Given the description of an element on the screen output the (x, y) to click on. 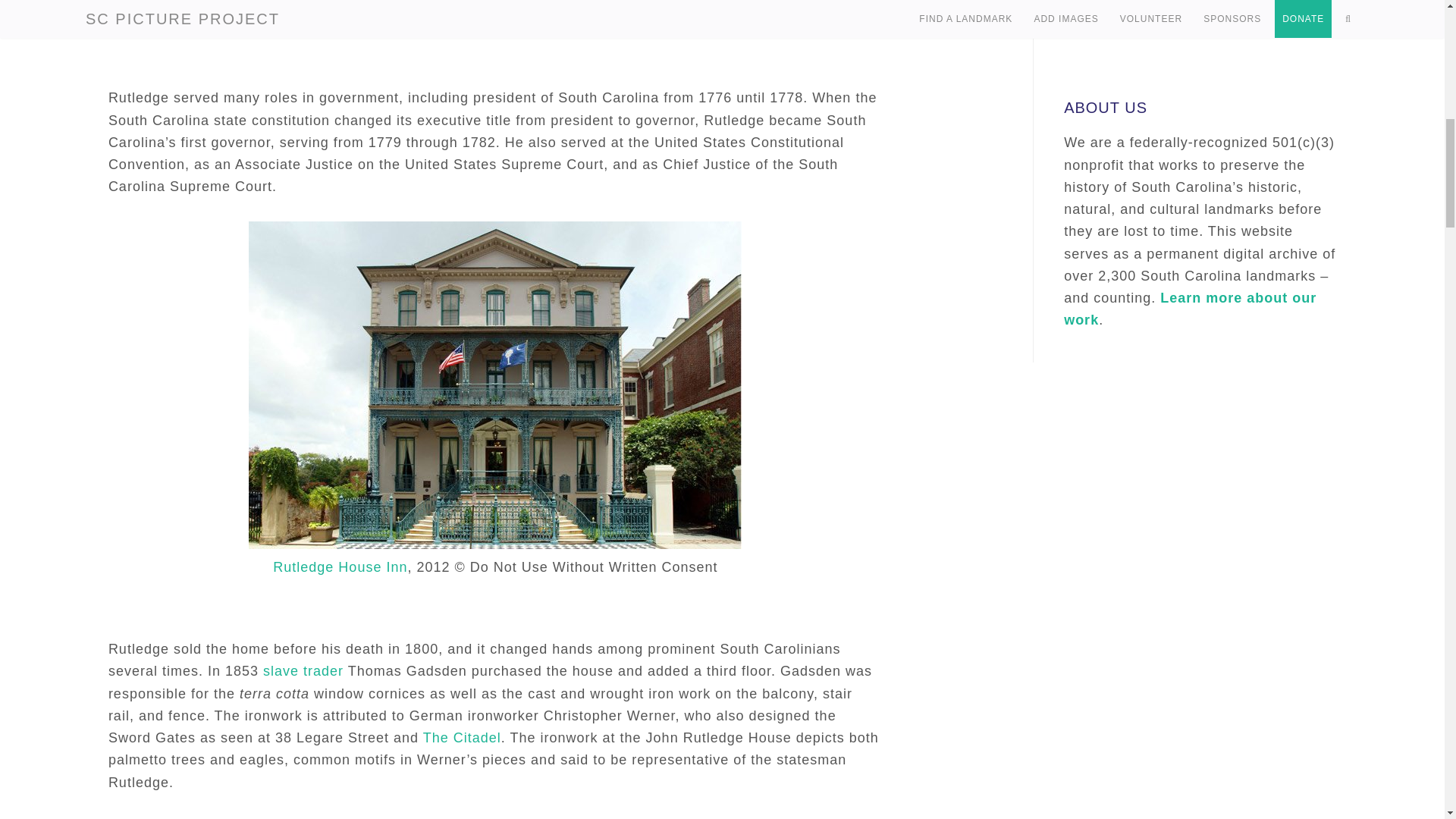
Rutledge House Inn (340, 566)
slave trader (303, 670)
Ann Helms (287, 15)
The Citadel (461, 737)
